Given the description of an element on the screen output the (x, y) to click on. 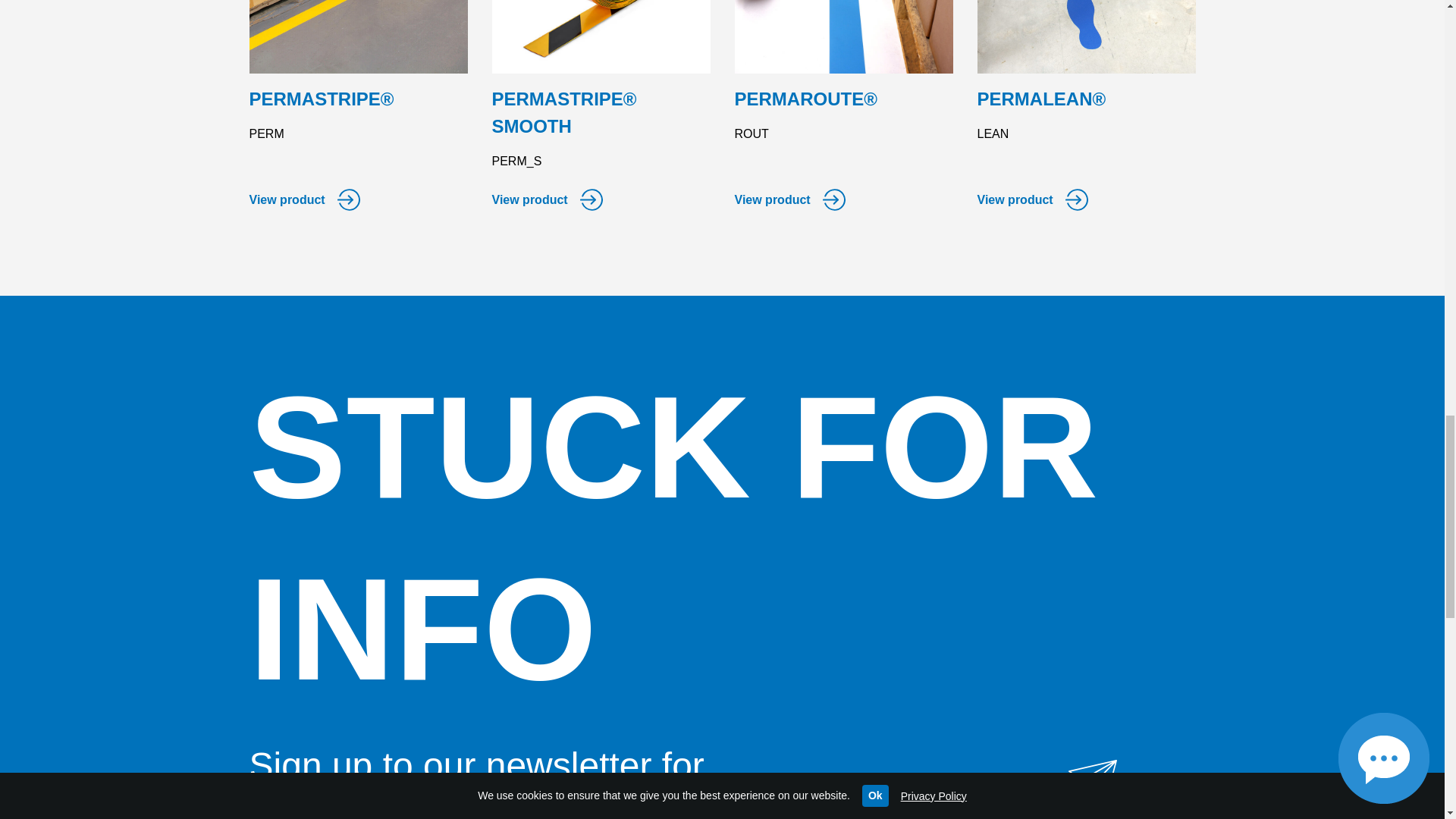
Send (1155, 809)
